Given the description of an element on the screen output the (x, y) to click on. 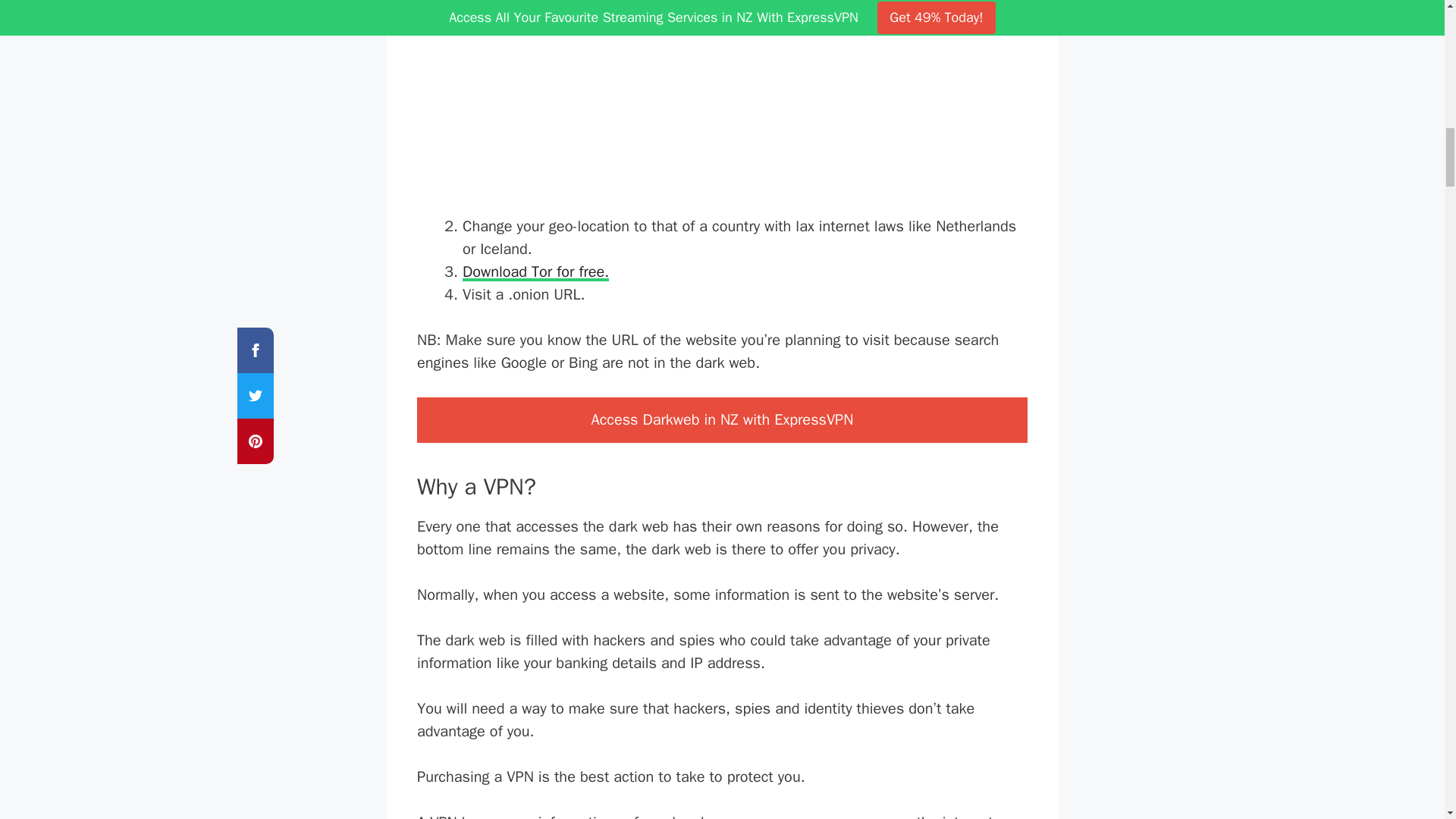
Download Tor for free. (535, 271)
ExpressVPN. (846, 5)
Access Darkweb in NZ with ExpressVPN (721, 420)
